Given the description of an element on the screen output the (x, y) to click on. 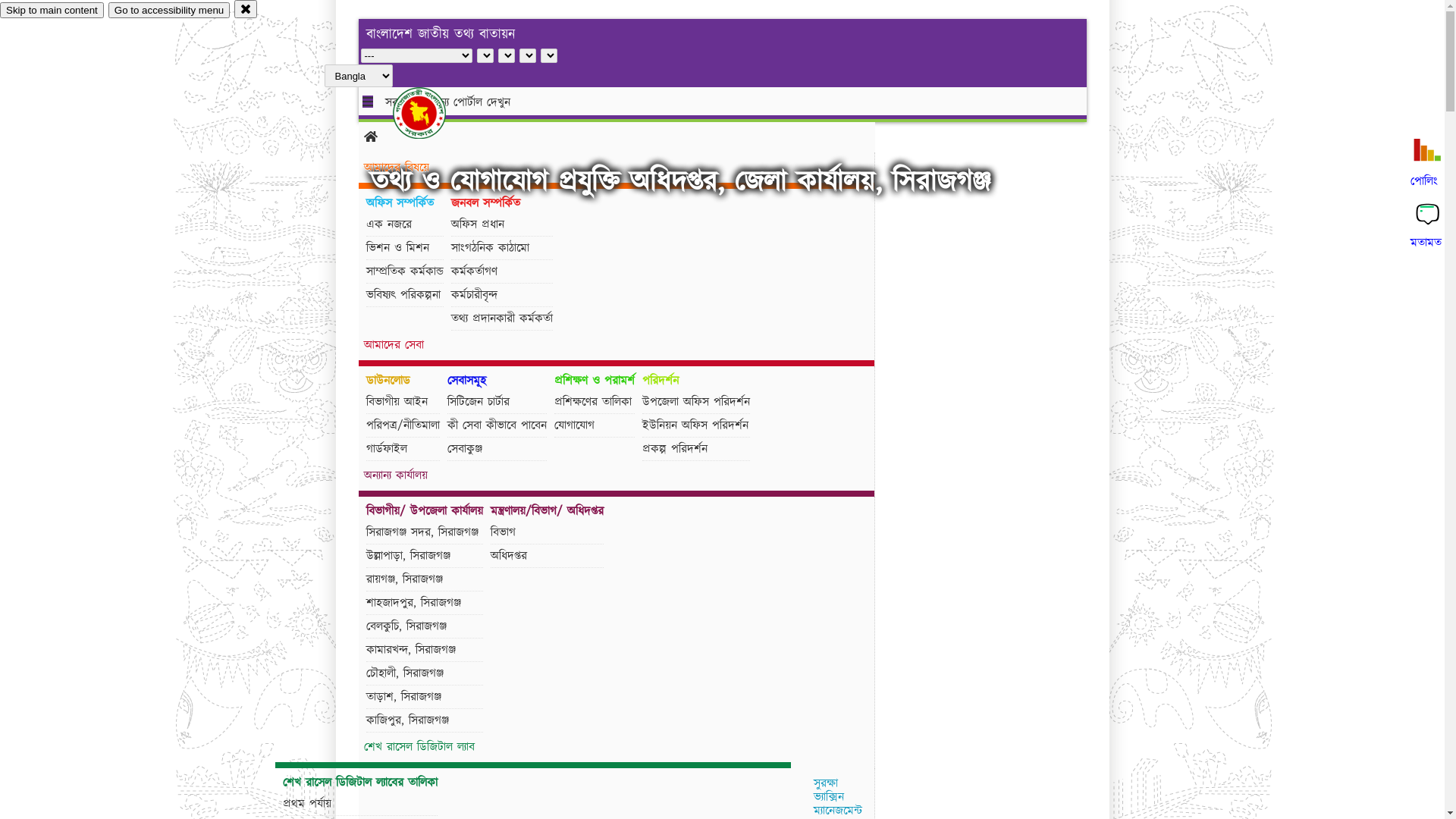
Go to accessibility menu Element type: text (168, 10)

                
             Element type: hover (431, 112)
Skip to main content Element type: text (51, 10)
close Element type: hover (245, 9)
